Given the description of an element on the screen output the (x, y) to click on. 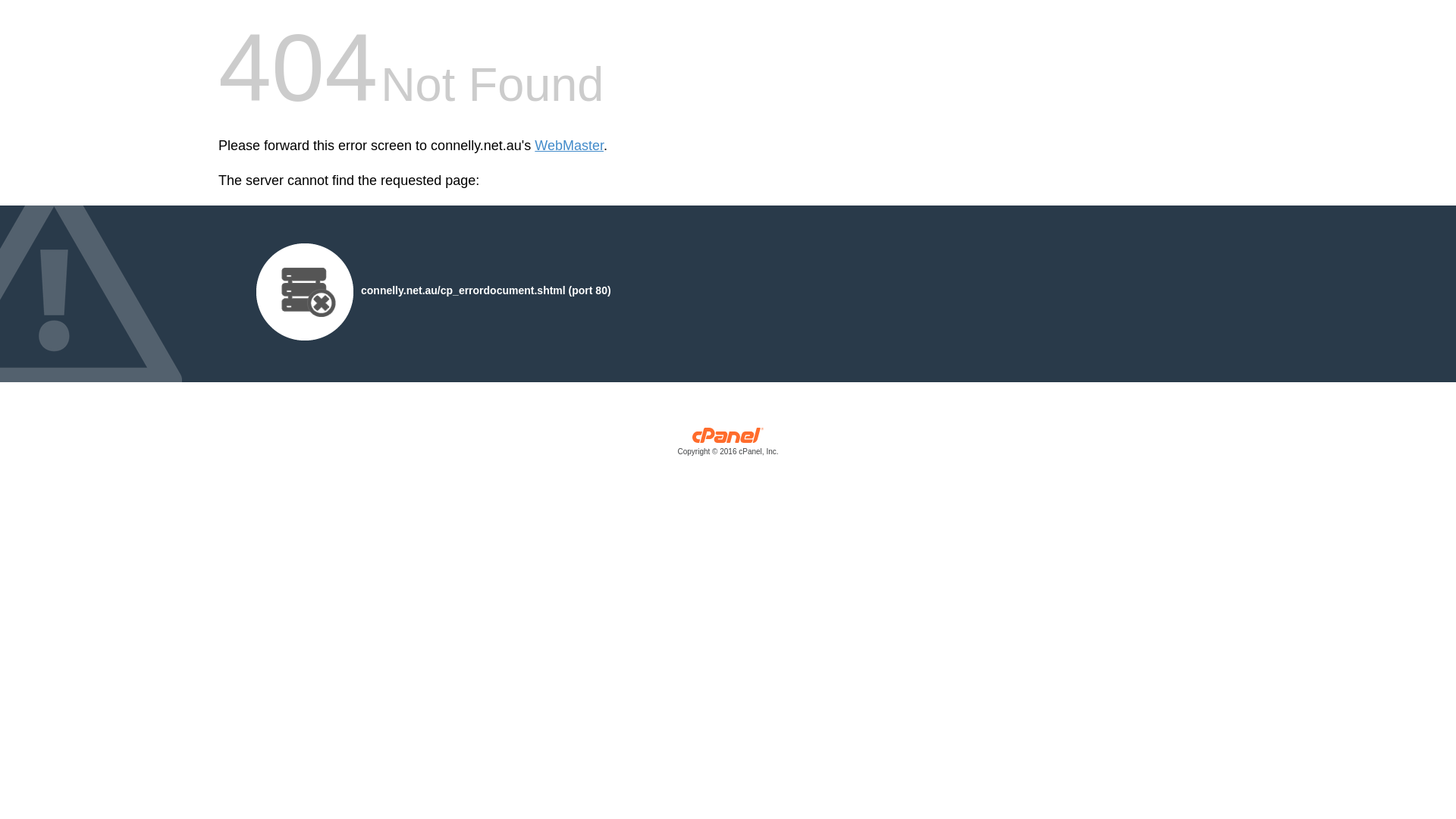
WebMaster Element type: text (568, 145)
